Given the description of an element on the screen output the (x, y) to click on. 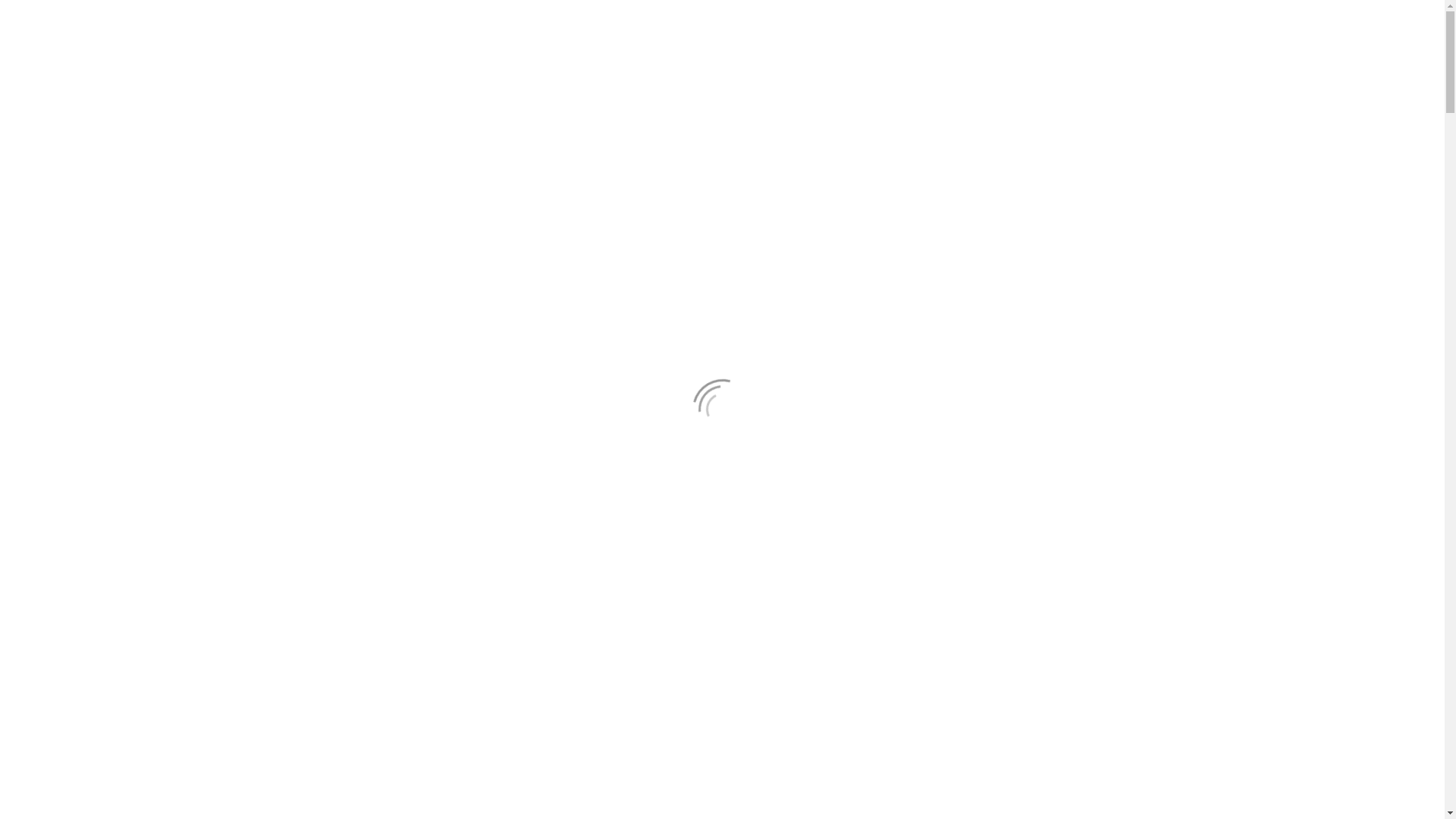
CLICK HERE! Element type: text (1015, 492)
